Given the description of an element on the screen output the (x, y) to click on. 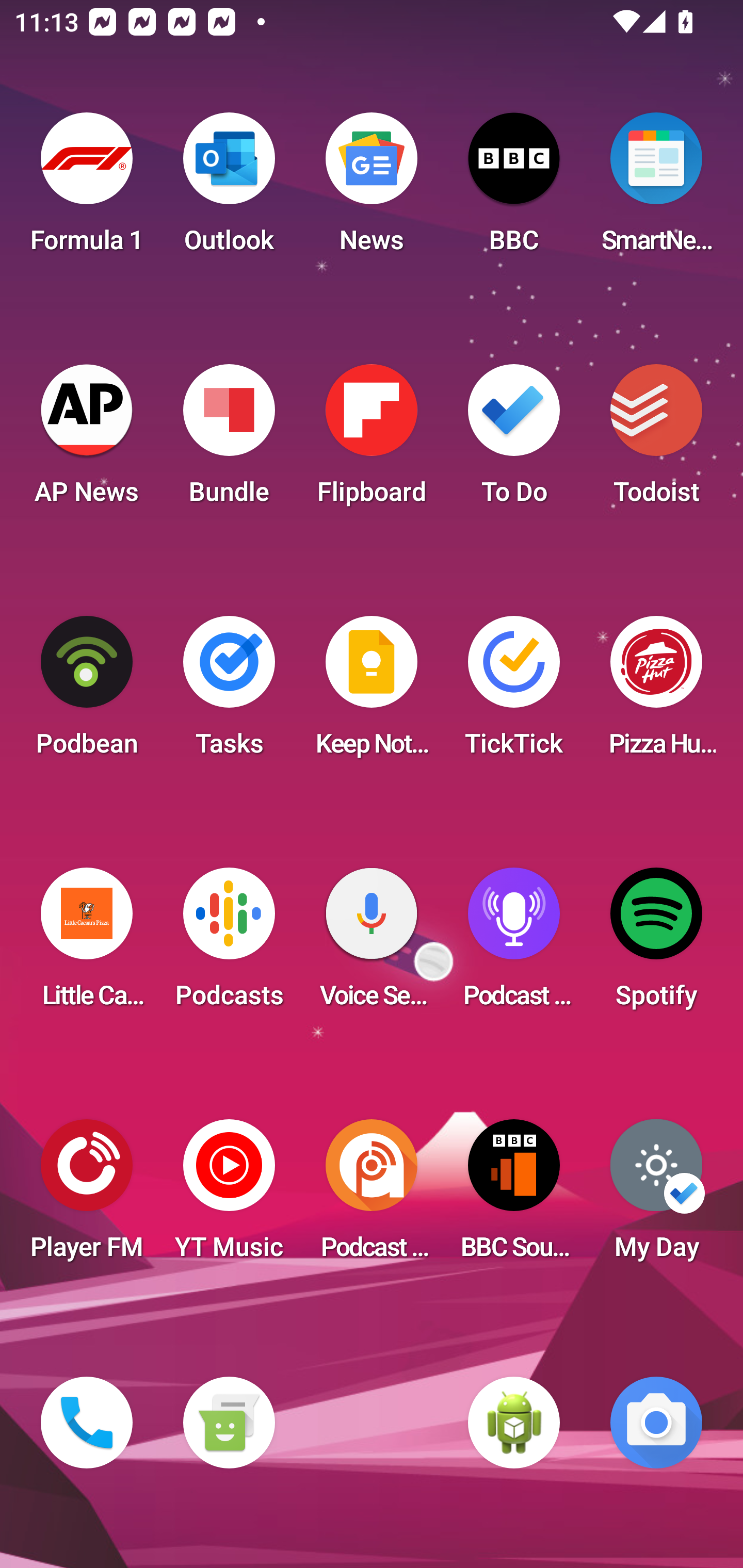
Formula 1 (86, 188)
Outlook (228, 188)
News (371, 188)
BBC (513, 188)
SmartNews (656, 188)
AP News (86, 440)
Bundle (228, 440)
Flipboard (371, 440)
To Do (513, 440)
Todoist (656, 440)
Podbean (86, 692)
Tasks (228, 692)
Keep Notes (371, 692)
TickTick (513, 692)
Pizza Hut HK & Macau (656, 692)
Little Caesars Pizza (86, 943)
Podcasts (228, 943)
Voice Search (371, 943)
Podcast Player (513, 943)
Spotify (656, 943)
Player FM (86, 1195)
YT Music (228, 1195)
Podcast Addict (371, 1195)
BBC Sounds (513, 1195)
My Day (656, 1195)
Phone (86, 1422)
Messaging (228, 1422)
WebView Browser Tester (513, 1422)
Camera (656, 1422)
